Given the description of an element on the screen output the (x, y) to click on. 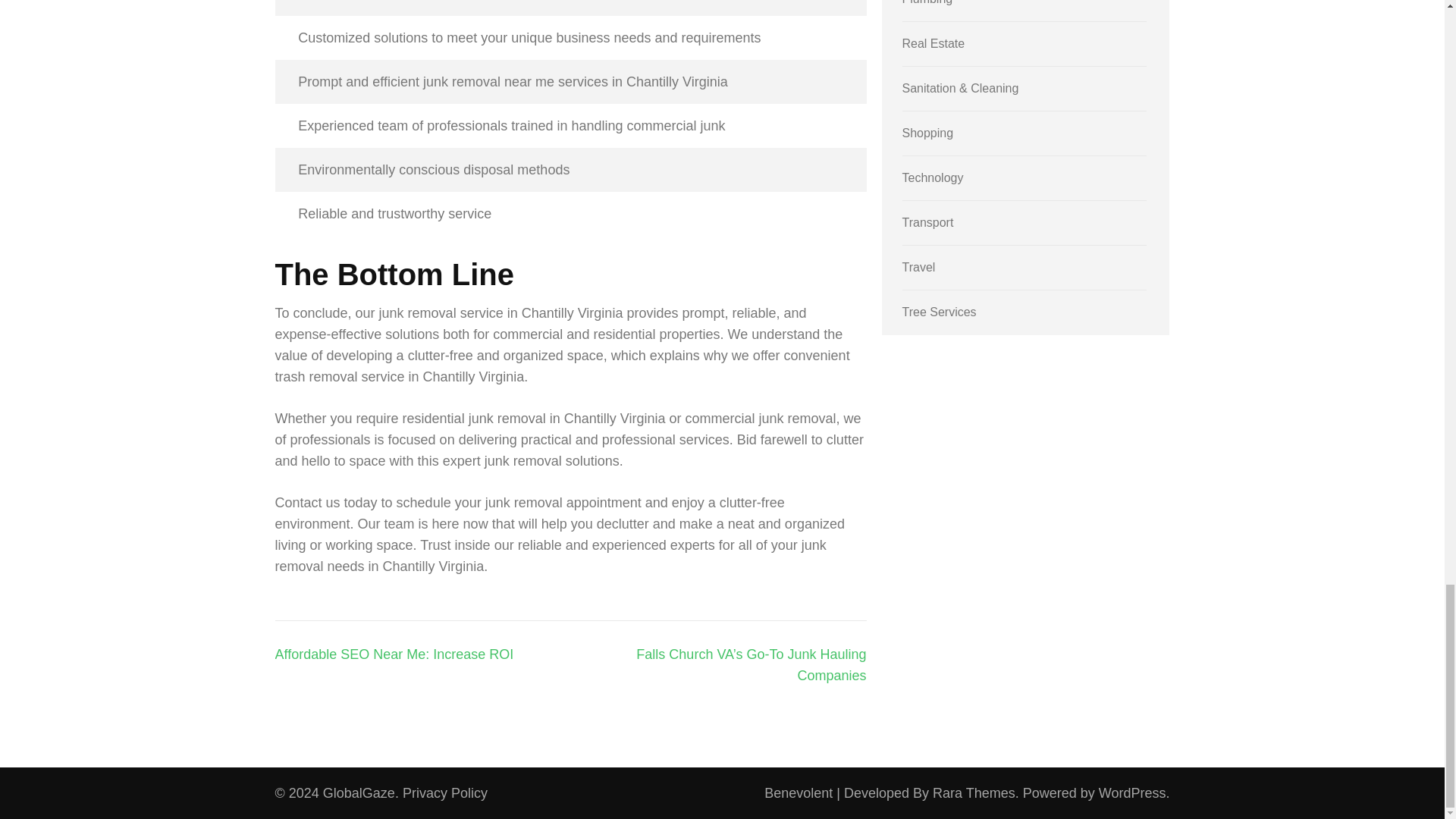
Affordable SEO Near Me: Increase ROI (394, 654)
